Given the description of an element on the screen output the (x, y) to click on. 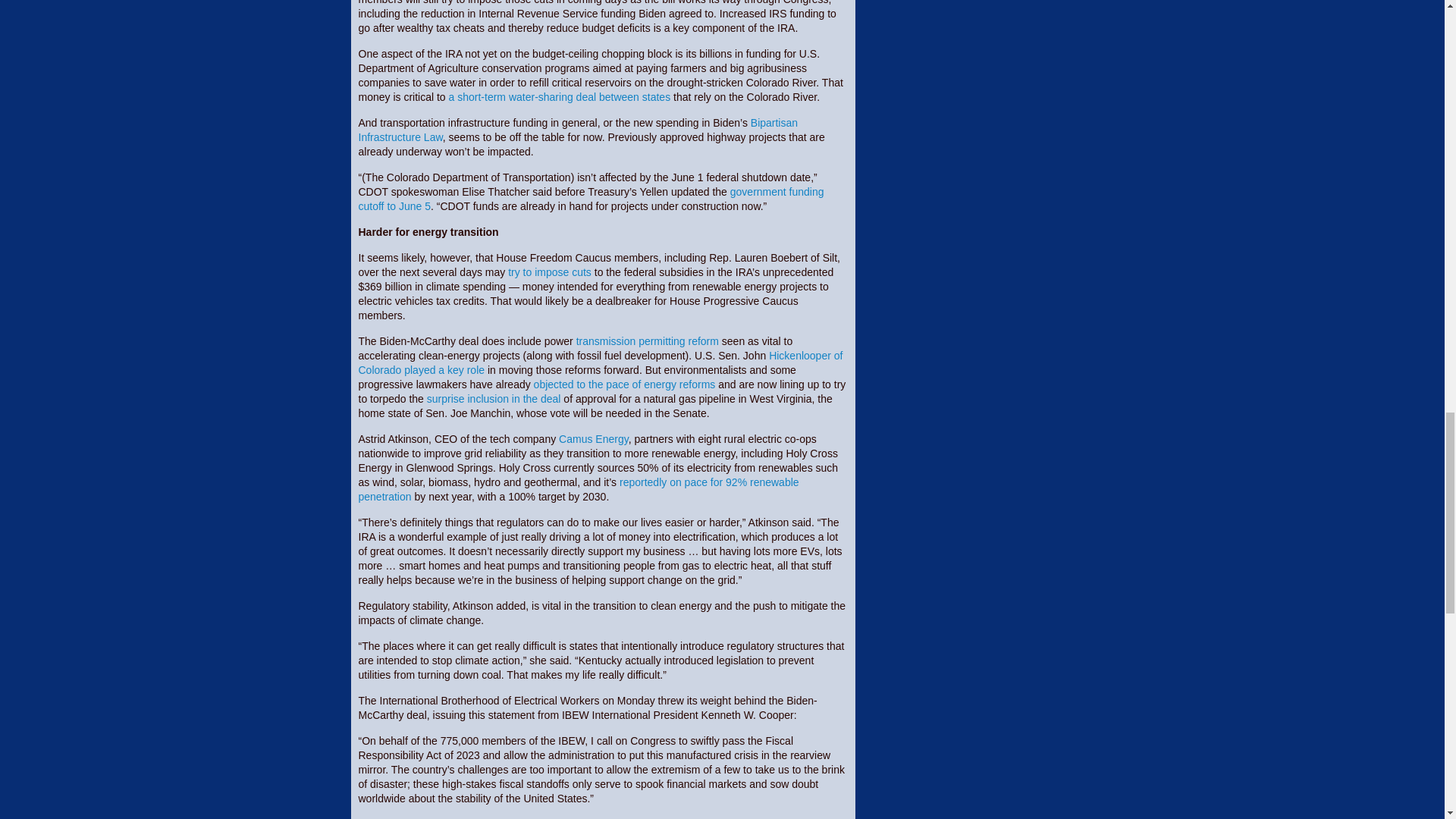
a short-term water-sharing deal between states (559, 96)
transmission permitting reform (647, 340)
Bipartisan Infrastructure Law (577, 130)
try to impose cuts (549, 272)
Hickenlooper of Colorado played a key role (600, 362)
government funding cutoff to June 5 (591, 198)
objected to the pace of energy reforms (625, 384)
surprise inclusion in the deal (493, 398)
Camus Energy (593, 439)
